Given the description of an element on the screen output the (x, y) to click on. 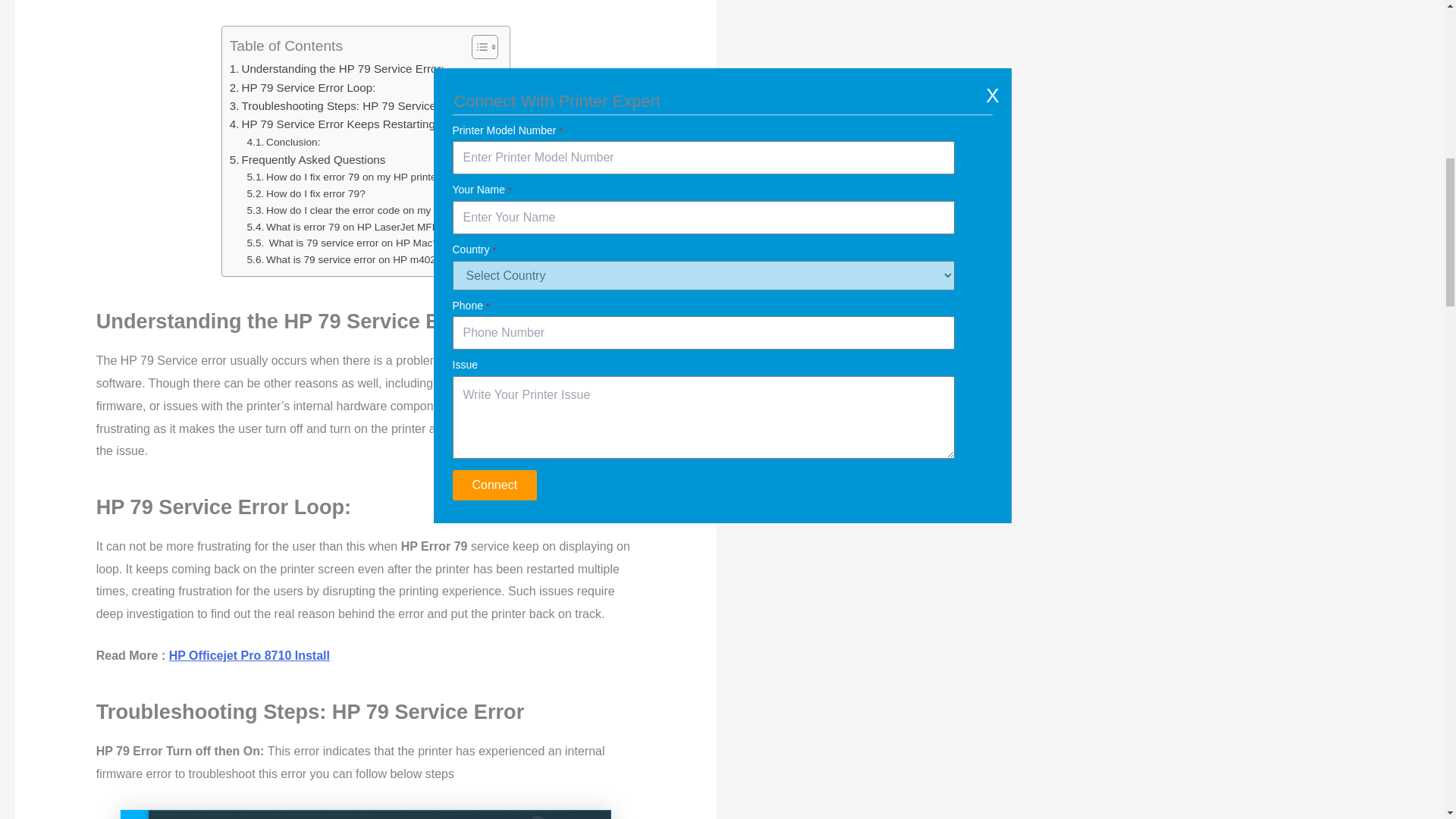
How do I fix error 79? (306, 193)
HP Officejet Pro 8710 Install (249, 655)
What is error 79 on HP LaserJet MFP 2604SDW? (371, 227)
What is error 79 on HP LaserJet MFP 2604SDW? (371, 227)
 What is 79 service error on HP Mac? (343, 243)
How do I fix error 79? (306, 193)
Frequently Asked Questions (307, 159)
How do I clear the error code on my HP printer? (366, 210)
Troubleshooting Steps: HP 79 Service Error (347, 106)
What is 79 service error on HP m402? (344, 259)
Frequently Asked Questions (307, 159)
How do I clear the error code on my HP printer? (366, 210)
How do I fix error 79 on my HP printer? (346, 176)
